Given the description of an element on the screen output the (x, y) to click on. 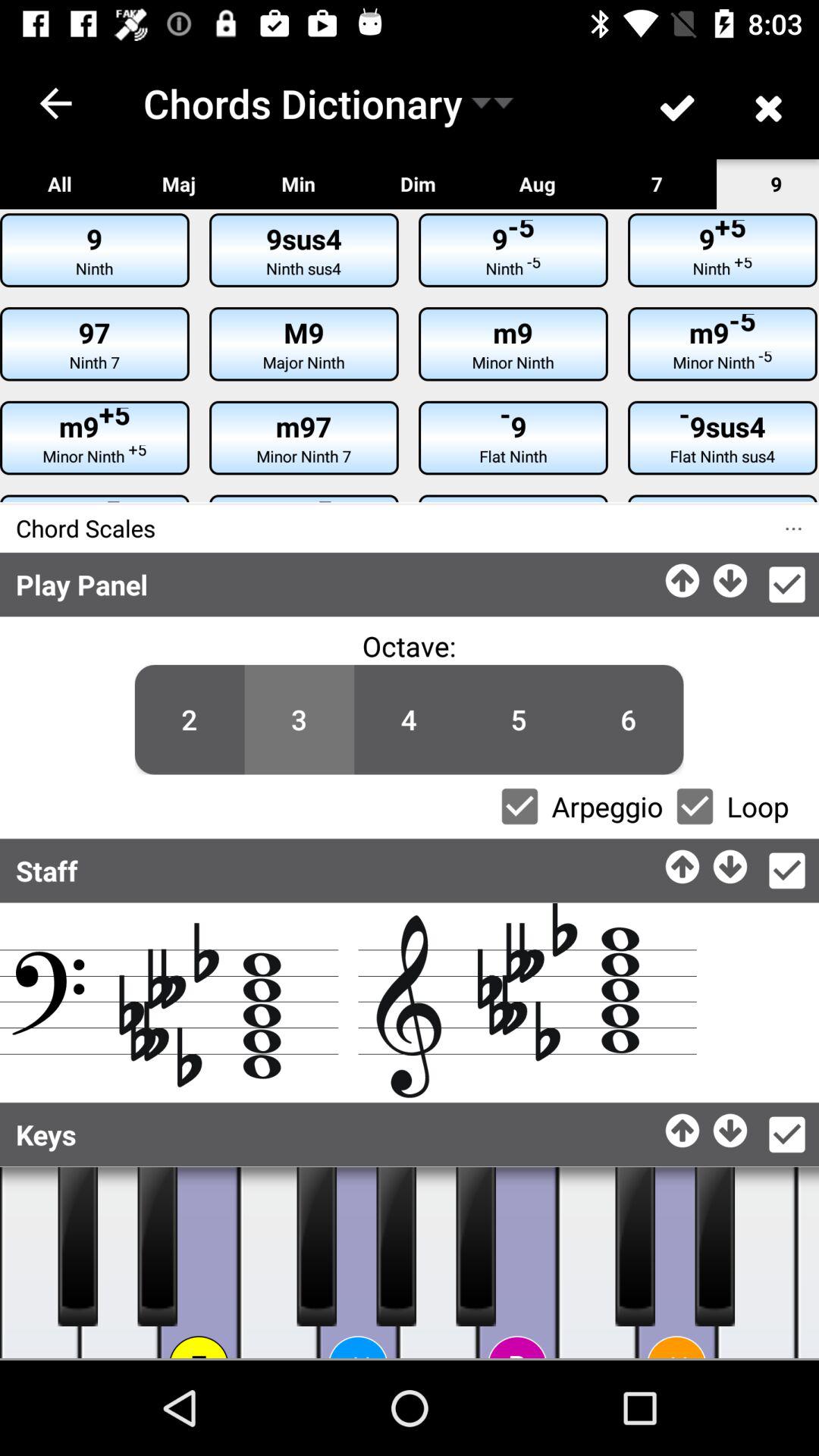
plays a key on the virtual piano (278, 1262)
